Given the description of an element on the screen output the (x, y) to click on. 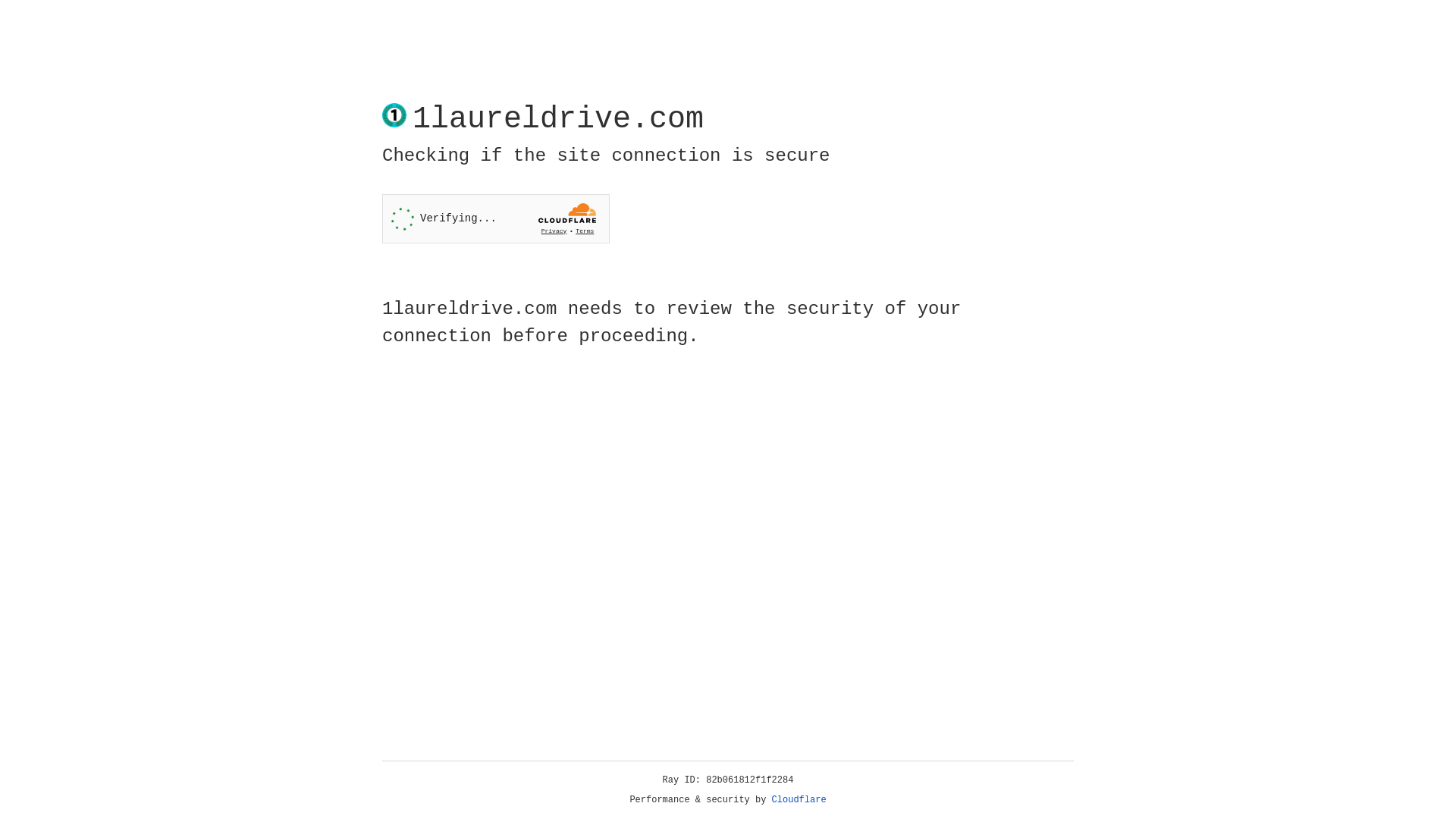
Cloudflare Element type: text (798, 799)
Widget containing a Cloudflare security challenge Element type: hover (495, 218)
